Given the description of an element on the screen output the (x, y) to click on. 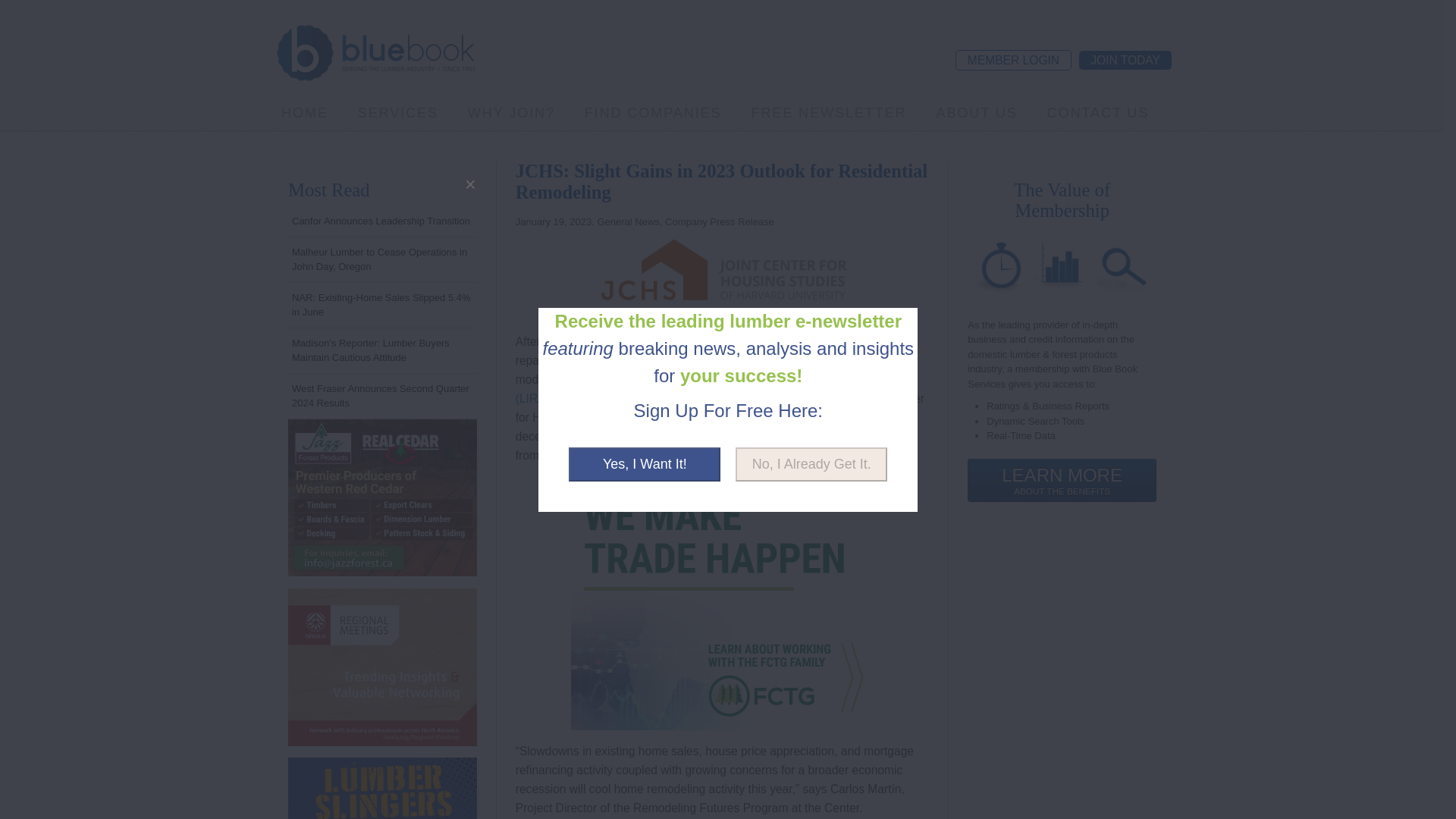
HOME (304, 111)
JCHS (721, 270)
MEMBER LOGIN (1013, 59)
JOIN TODAY (1125, 59)
WHY JOIN? (511, 111)
SERVICES (397, 111)
